Given the description of an element on the screen output the (x, y) to click on. 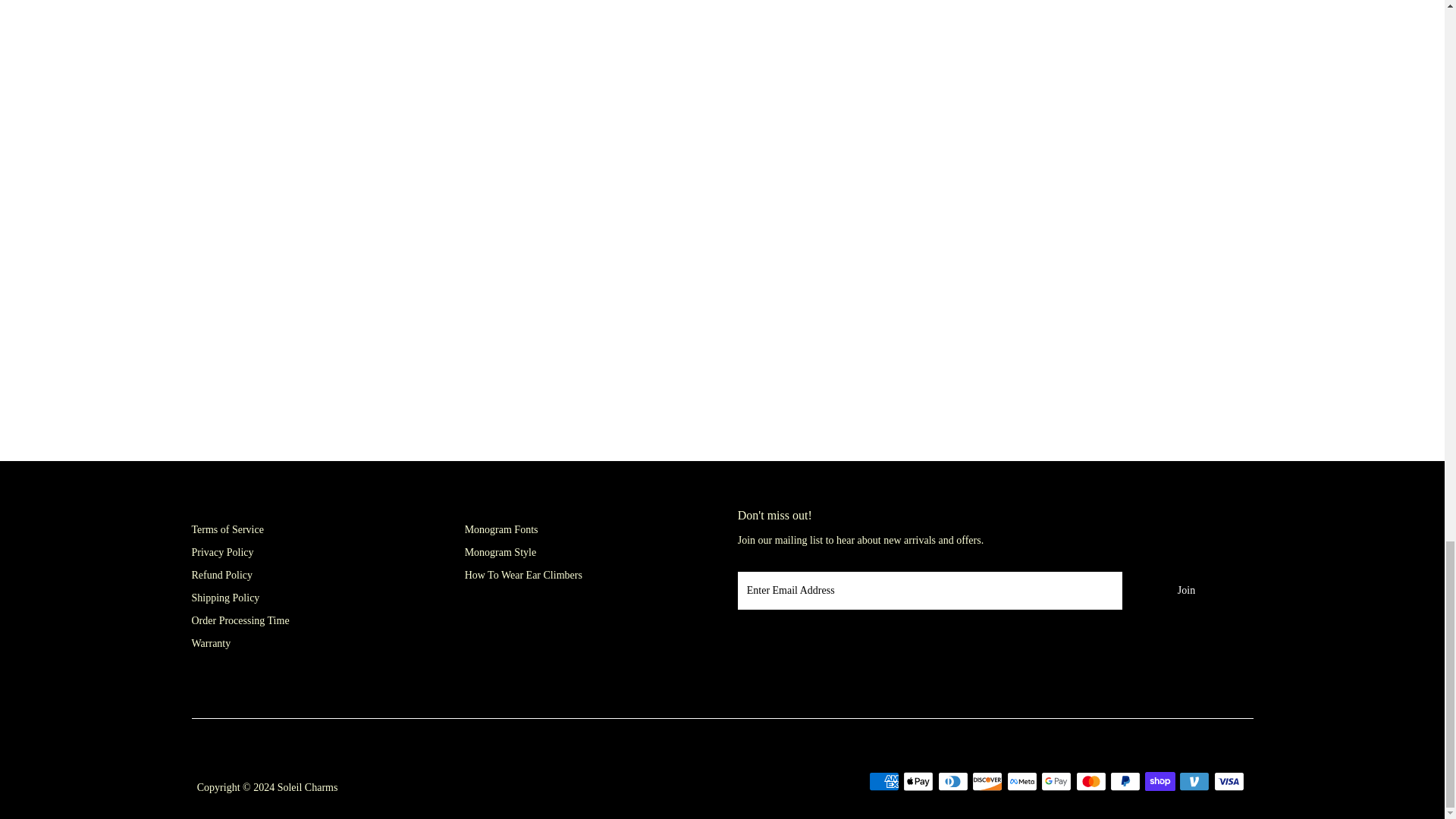
American Express (884, 781)
Apple Pay (917, 781)
PayPal (1124, 781)
Discover (987, 781)
Meta Pay (1021, 781)
Venmo (1194, 781)
Join (1186, 590)
Diners Club (952, 781)
Google Pay (1056, 781)
Visa (1229, 781)
